Given the description of an element on the screen output the (x, y) to click on. 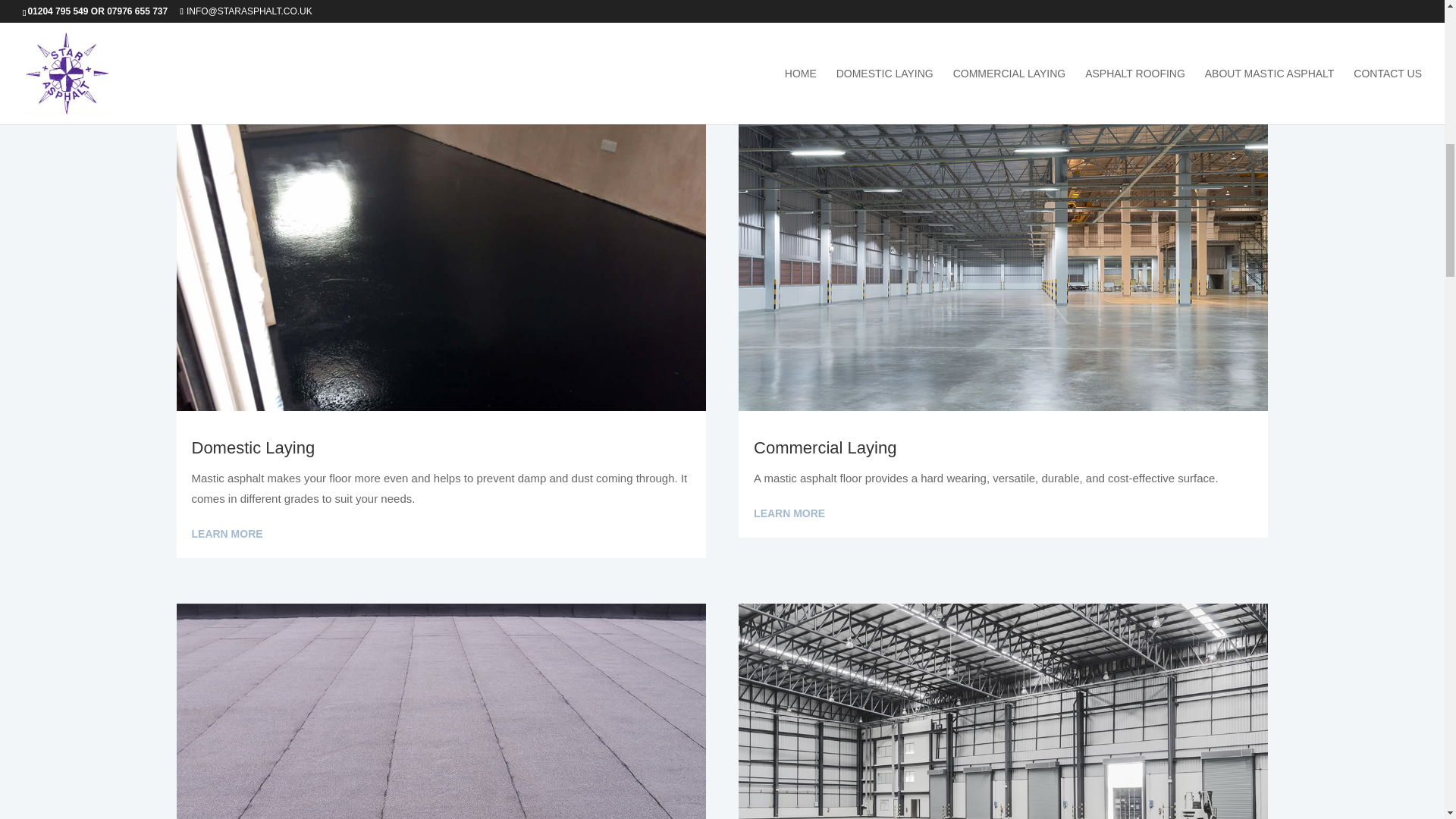
LEARN MORE (226, 534)
LEARN MORE (789, 514)
